Given the description of an element on the screen output the (x, y) to click on. 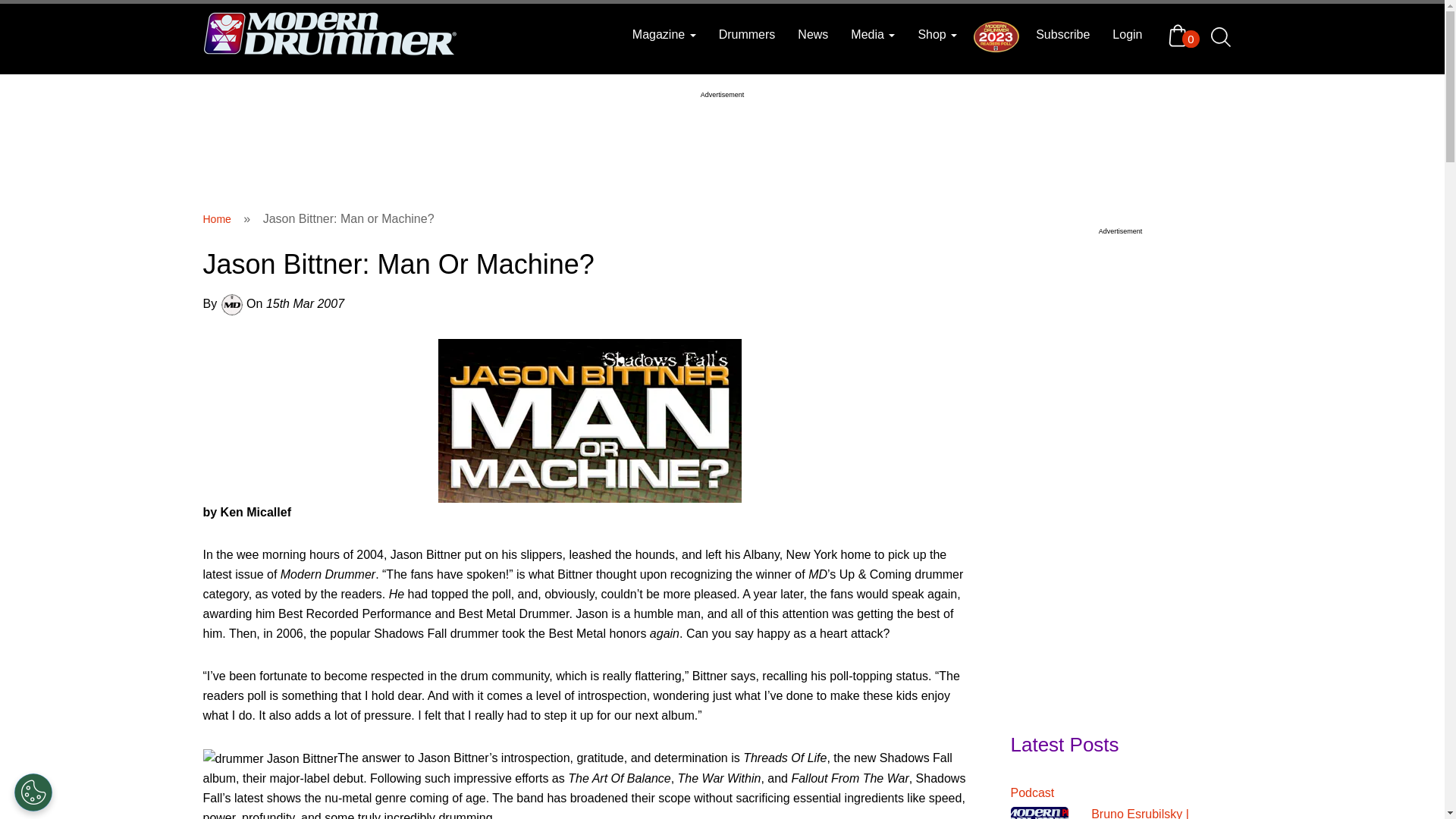
Magazine (664, 34)
Drummers (747, 34)
0 (1180, 35)
Shop (936, 34)
subscribe (1062, 34)
View your Orders (1180, 35)
Subscribe (1062, 34)
Media (872, 34)
